Given the description of an element on the screen output the (x, y) to click on. 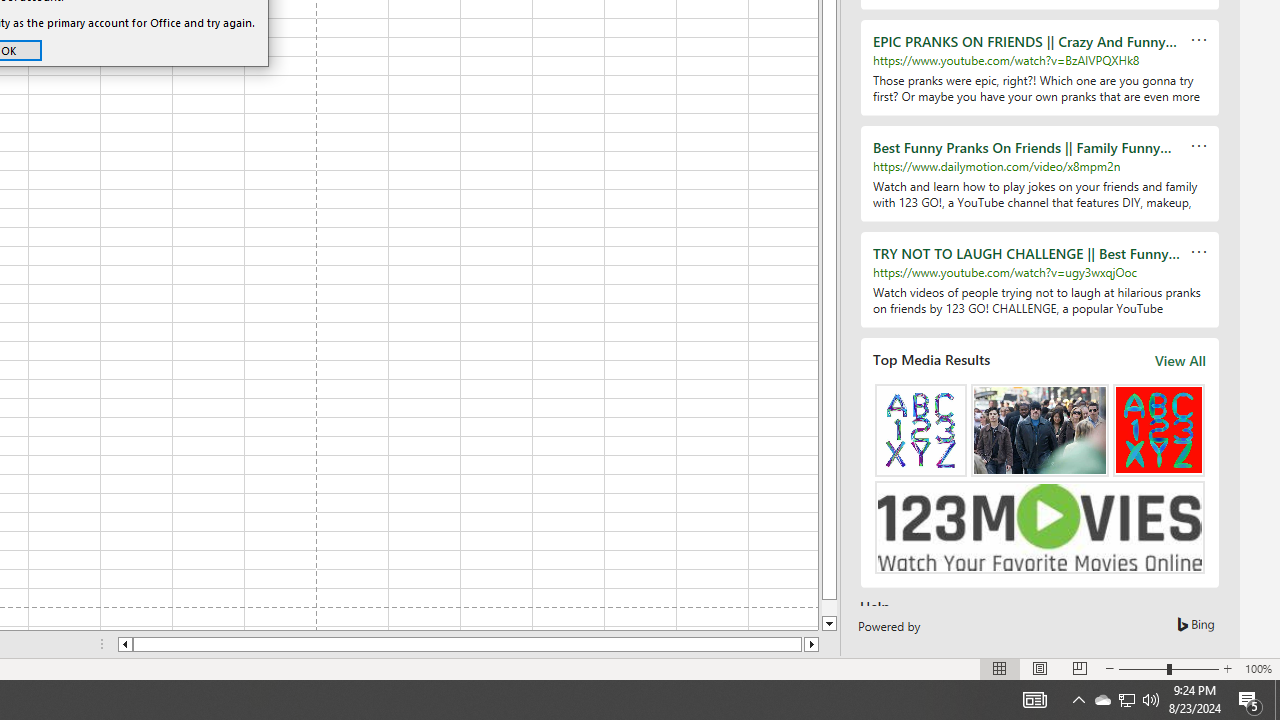
User Promoted Notification Area (1126, 699)
Q2790: 100% (1151, 699)
AutomationID: 4105 (1034, 699)
Action Center, 5 new notifications (1250, 699)
Notification Chevron (1078, 699)
